Given the description of an element on the screen output the (x, y) to click on. 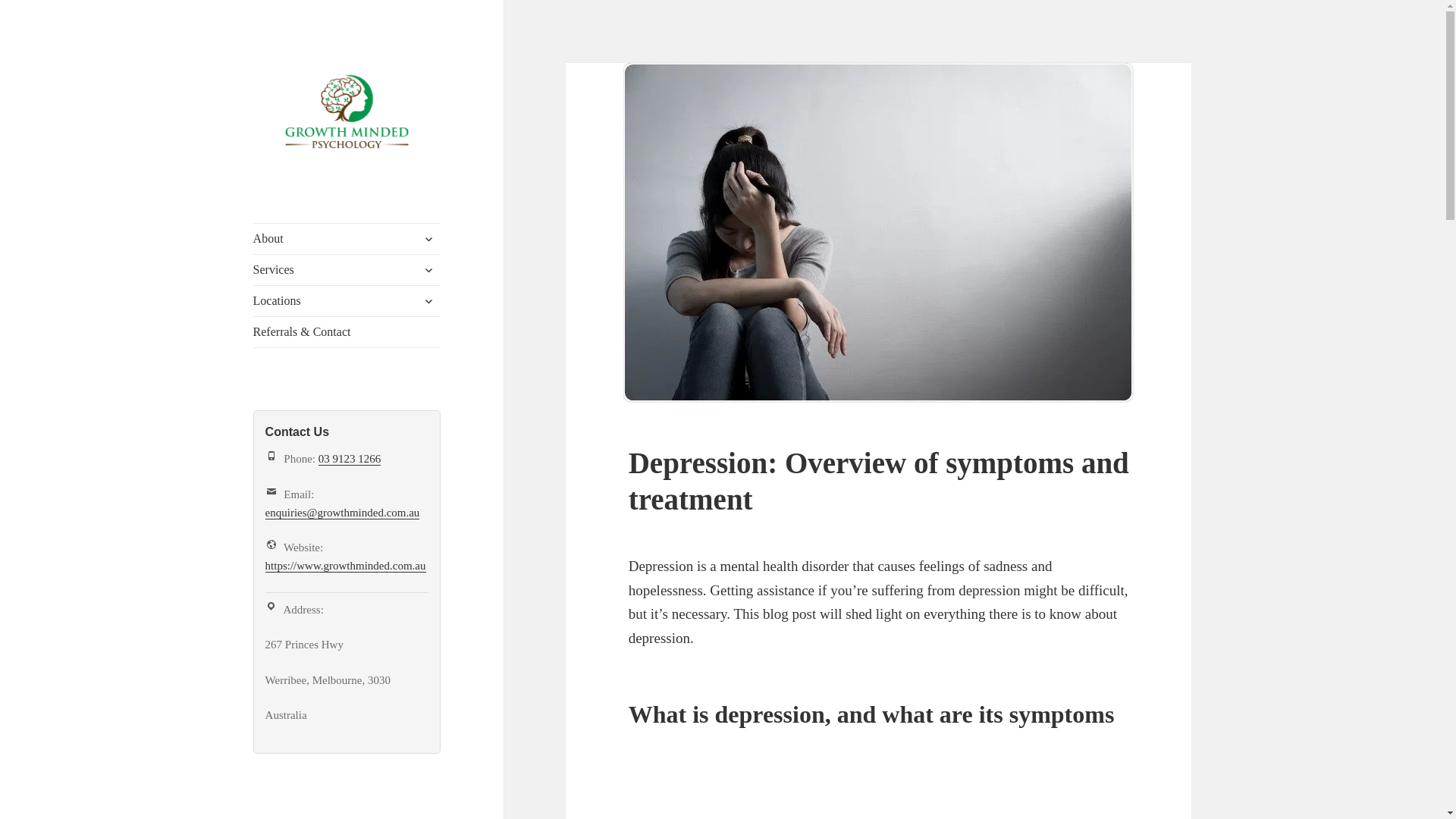
Services (347, 269)
About (347, 238)
03 9123 1266 (349, 459)
Locations (347, 300)
expand child menu (428, 238)
Growth Minded Psychology (327, 196)
expand child menu (428, 300)
expand child menu (428, 269)
